Given the description of an element on the screen output the (x, y) to click on. 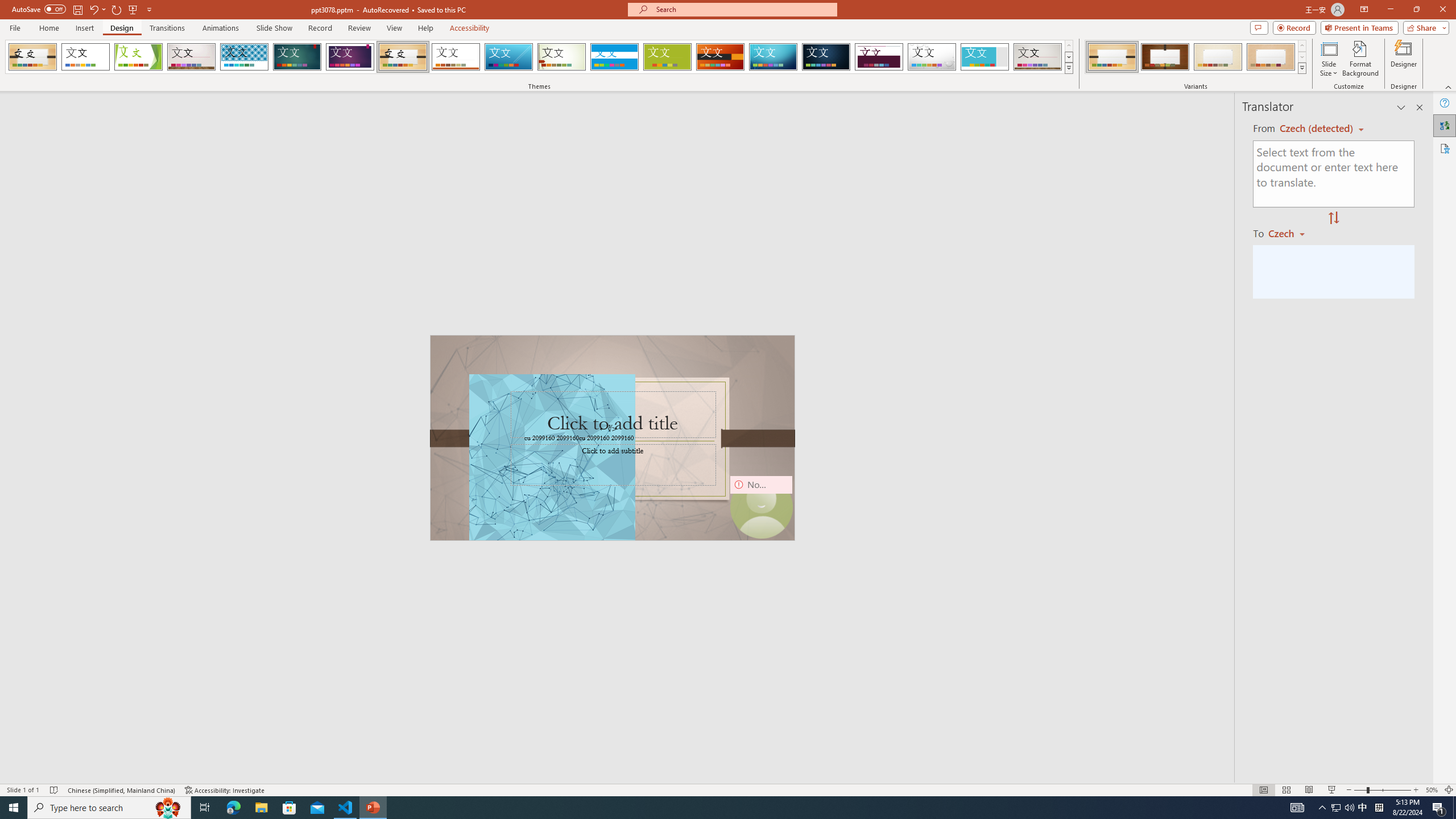
Basis (667, 56)
Circuit (772, 56)
Berlin (720, 56)
